Given the description of an element on the screen output the (x, y) to click on. 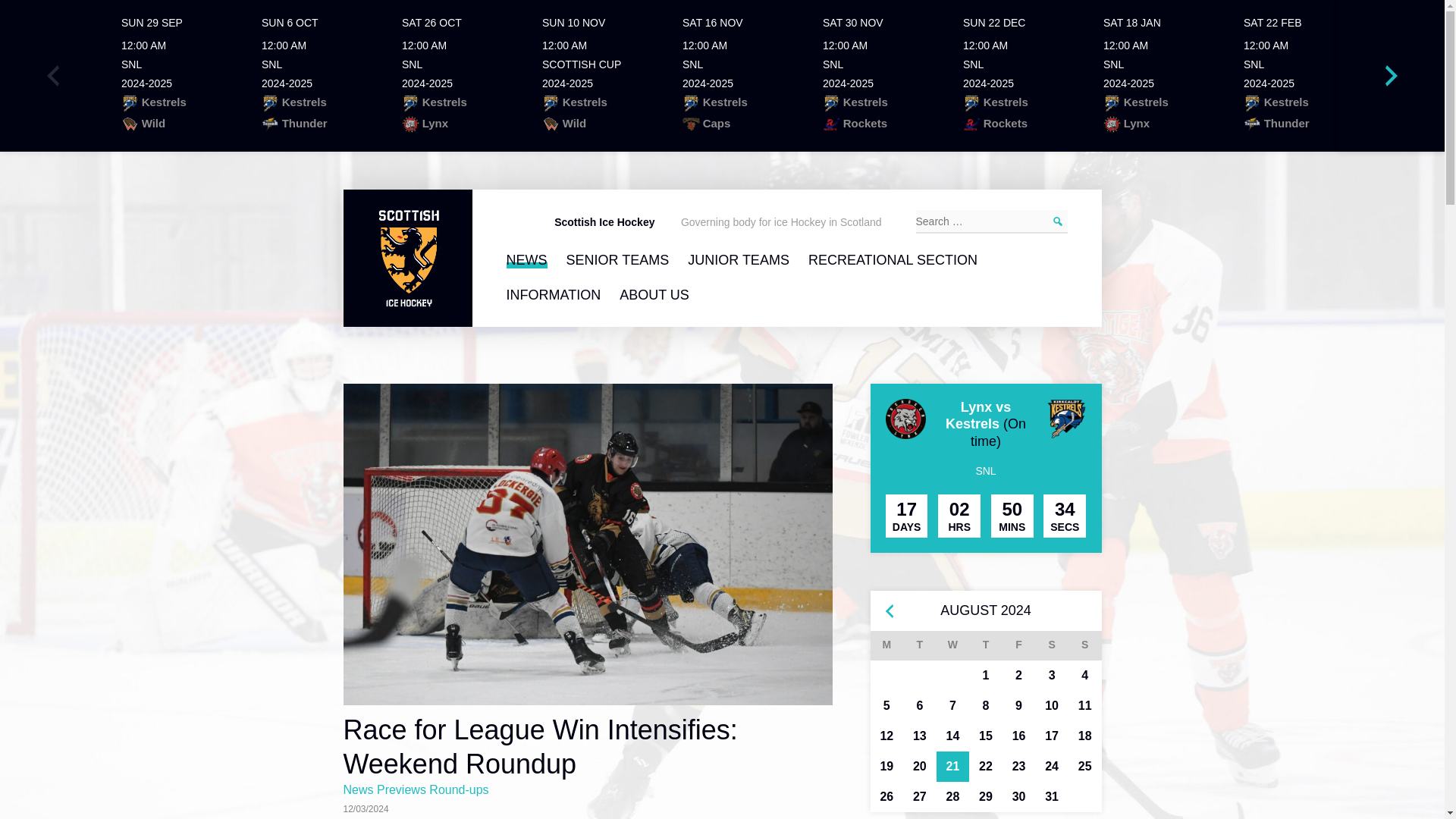
Sunday (1157, 75)
Monday (1085, 644)
Wednesday (887, 644)
NEWS (877, 75)
Tuesday (1298, 75)
